Given the description of an element on the screen output the (x, y) to click on. 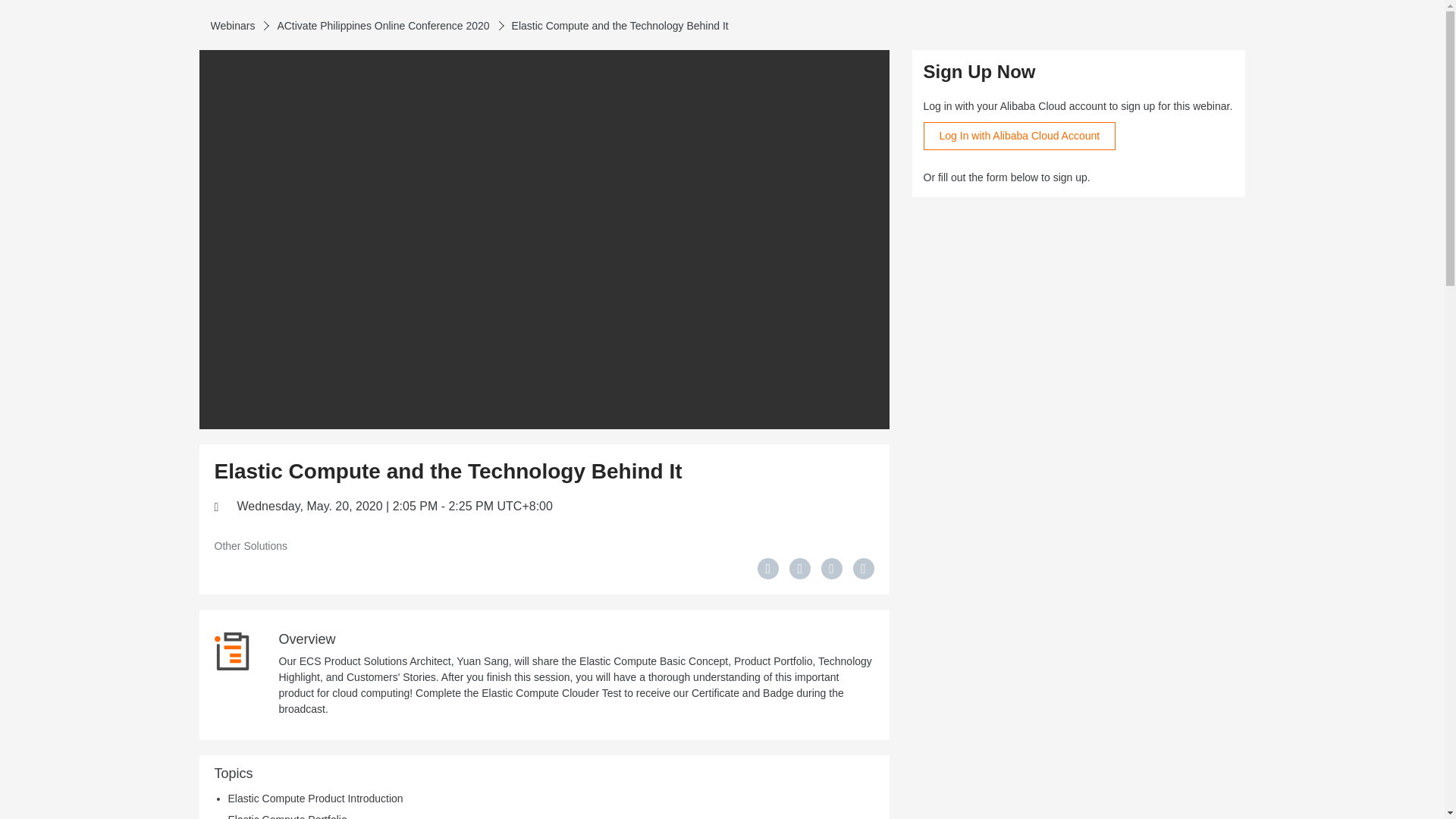
Log In with Alibaba Cloud Account (1019, 135)
ACtivate Philippines Online Conference 2020 (382, 25)
Other Solutions (250, 546)
Webinars (233, 25)
